Given the description of an element on the screen output the (x, y) to click on. 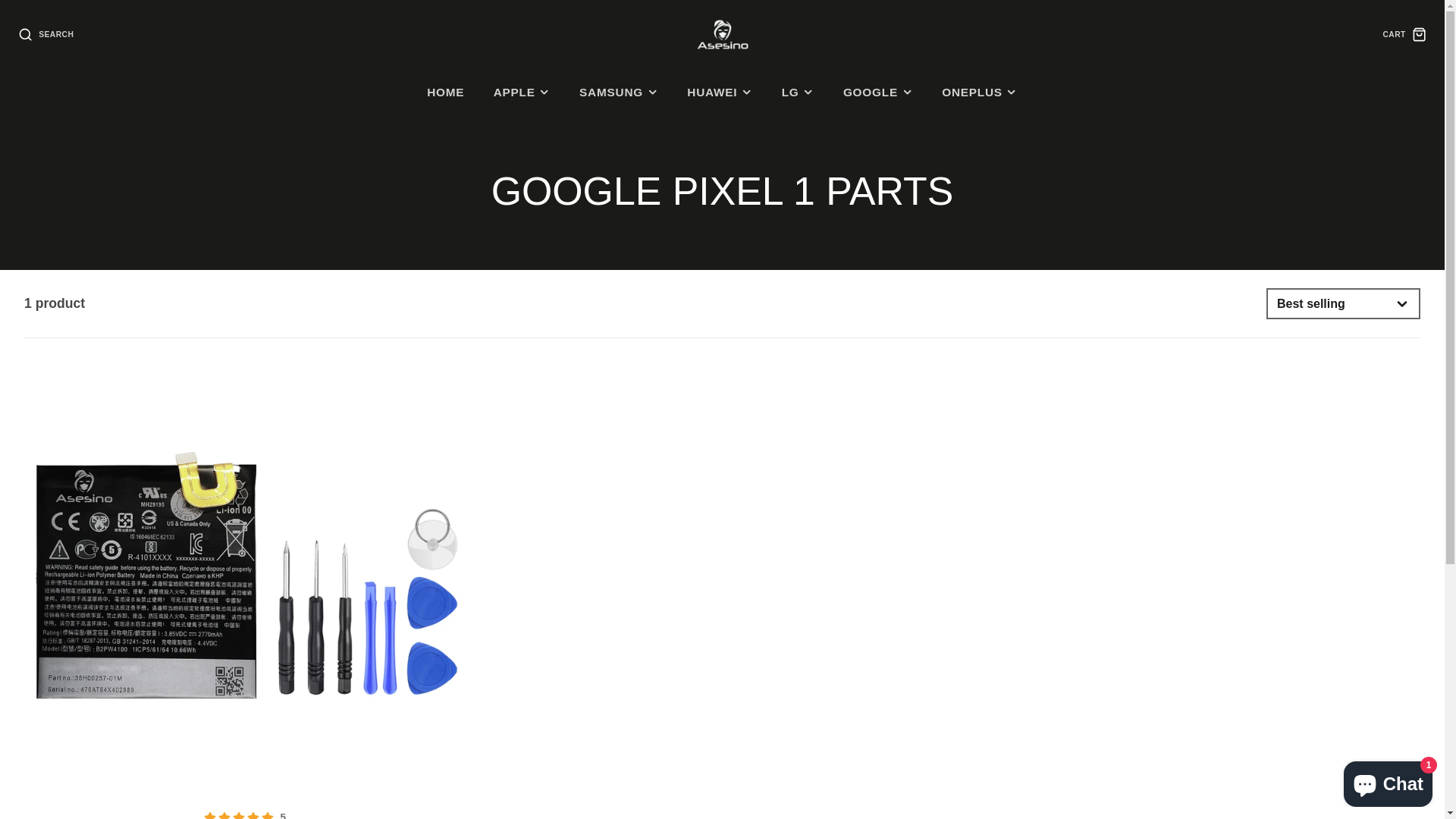
GOOGLE Element type: text (877, 91)
APPLE Element type: text (521, 91)
CART Element type: text (1404, 34)
SAMSUNG Element type: text (618, 91)
ONEPLUS Element type: text (979, 91)
HOME Element type: text (445, 91)
HUAWEI Element type: text (719, 91)
SEARCH Element type: text (45, 34)
LG Element type: text (797, 91)
Shopify online store chat Element type: hover (1388, 780)
